Given the description of an element on the screen output the (x, y) to click on. 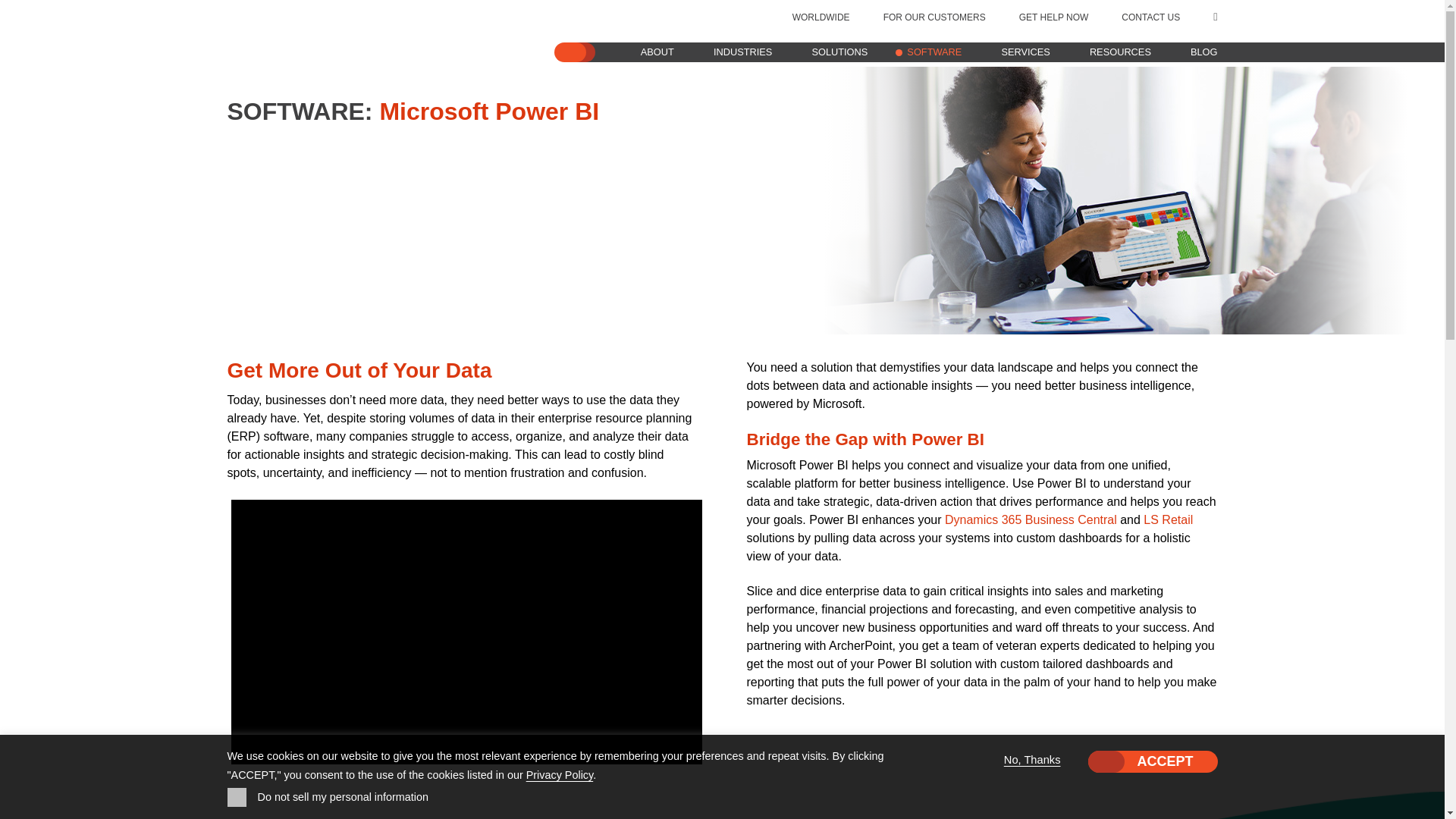
ARCHERPOINT (339, 47)
ABOUT (657, 52)
on (236, 796)
SOLUTIONS (839, 52)
INDUSTRIES (743, 52)
